Given the description of an element on the screen output the (x, y) to click on. 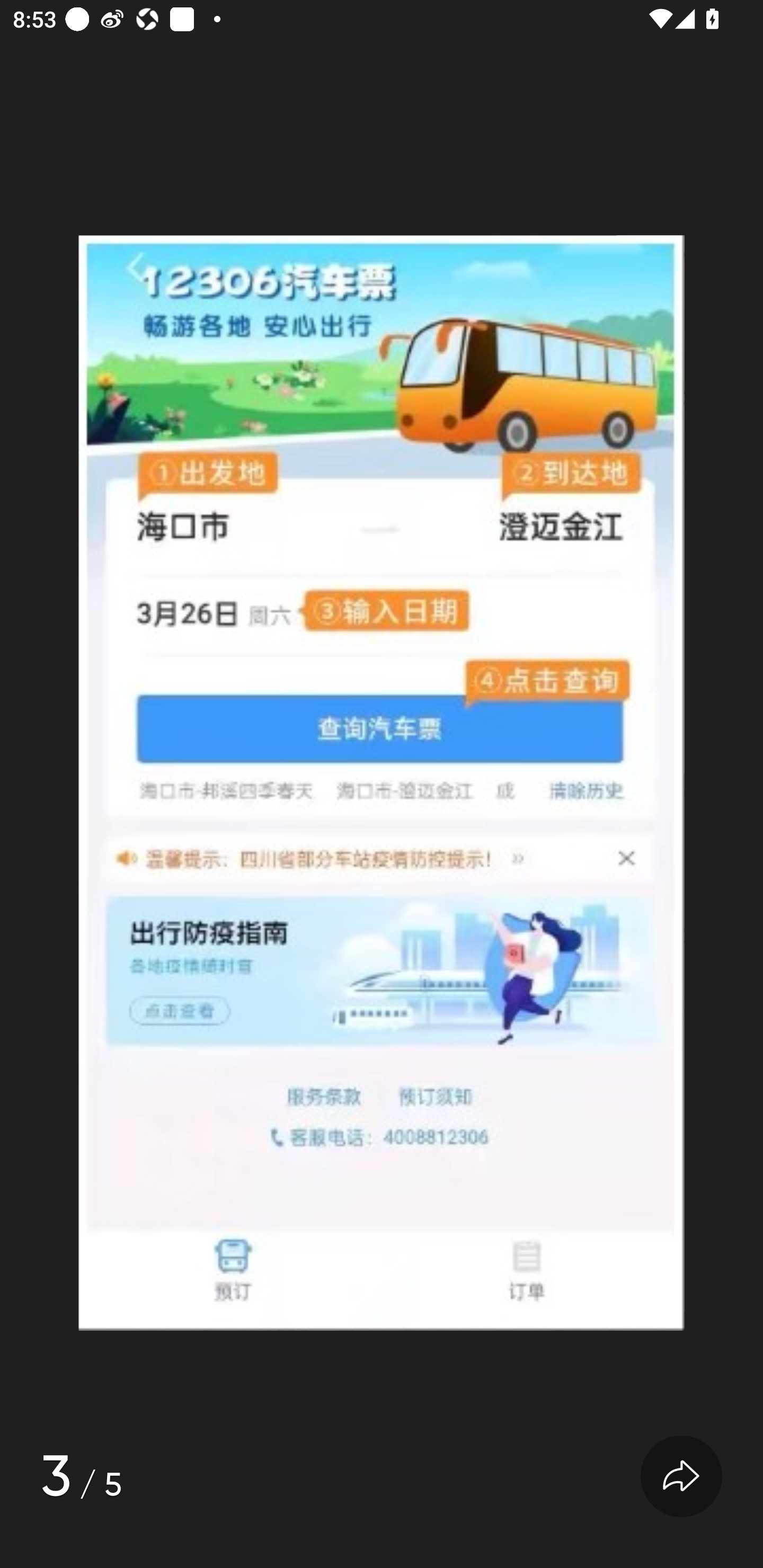
 (681, 1476)
